Given the description of an element on the screen output the (x, y) to click on. 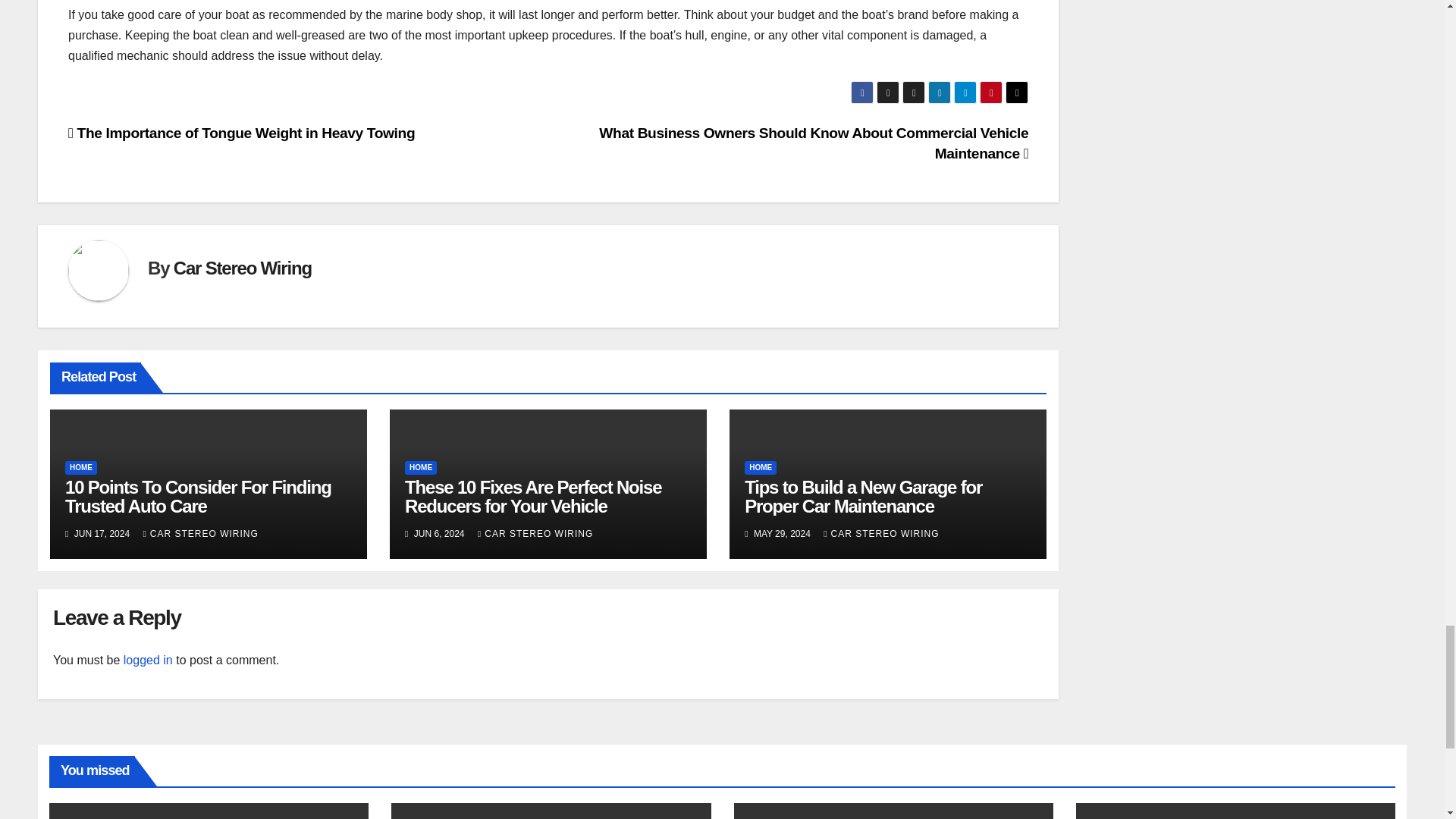
HOME (81, 468)
Car Stereo Wiring (242, 267)
CAR STEREO WIRING (199, 533)
The Importance of Tongue Weight in Heavy Towing (241, 132)
10 Points To Consider For Finding Trusted Auto Care (198, 496)
